Given the description of an element on the screen output the (x, y) to click on. 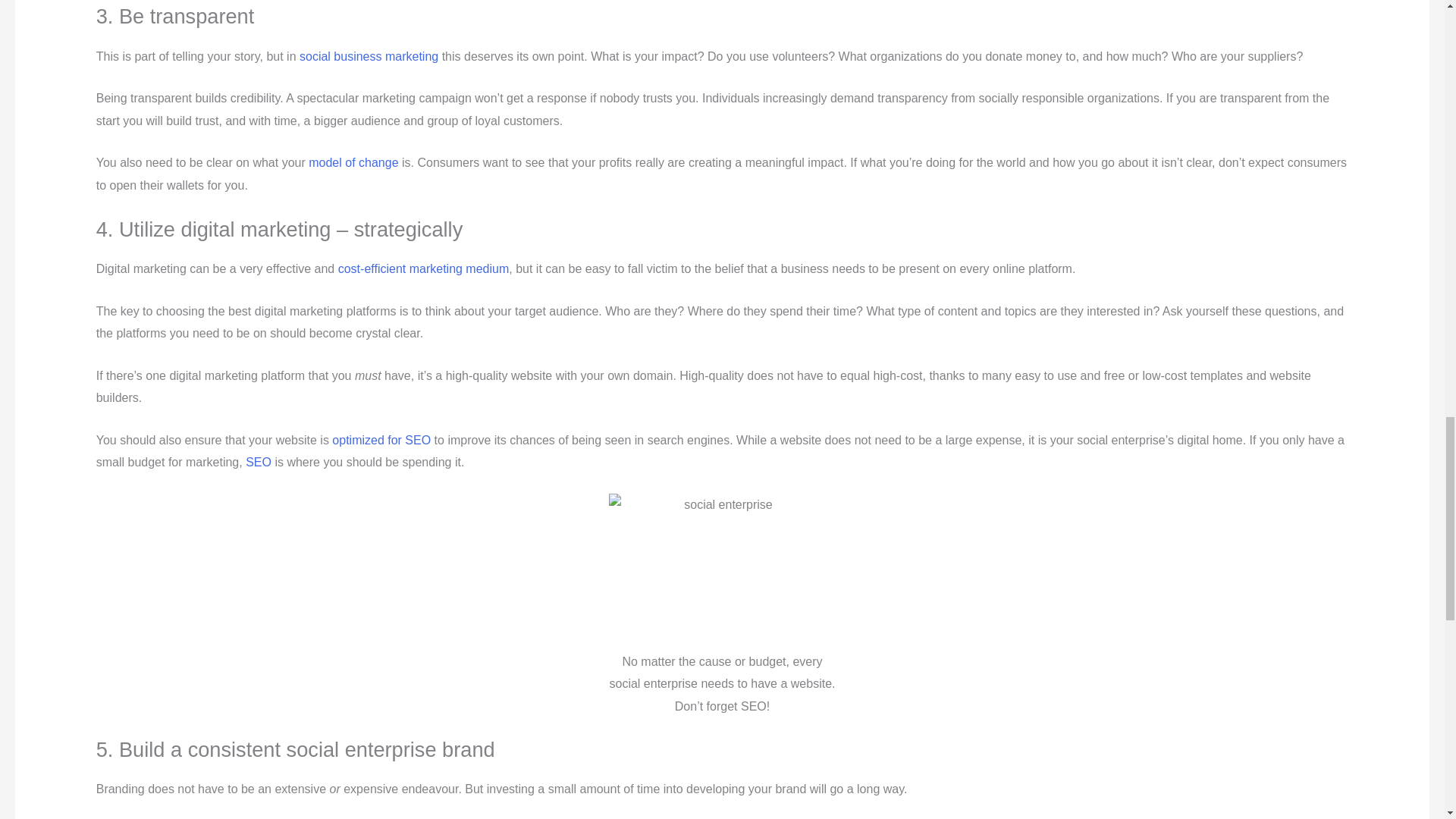
model of change (352, 162)
optimized for SEO (380, 440)
social business marketing (368, 56)
cost-efficient marketing medium (423, 268)
SEO (258, 461)
